Given the description of an element on the screen output the (x, y) to click on. 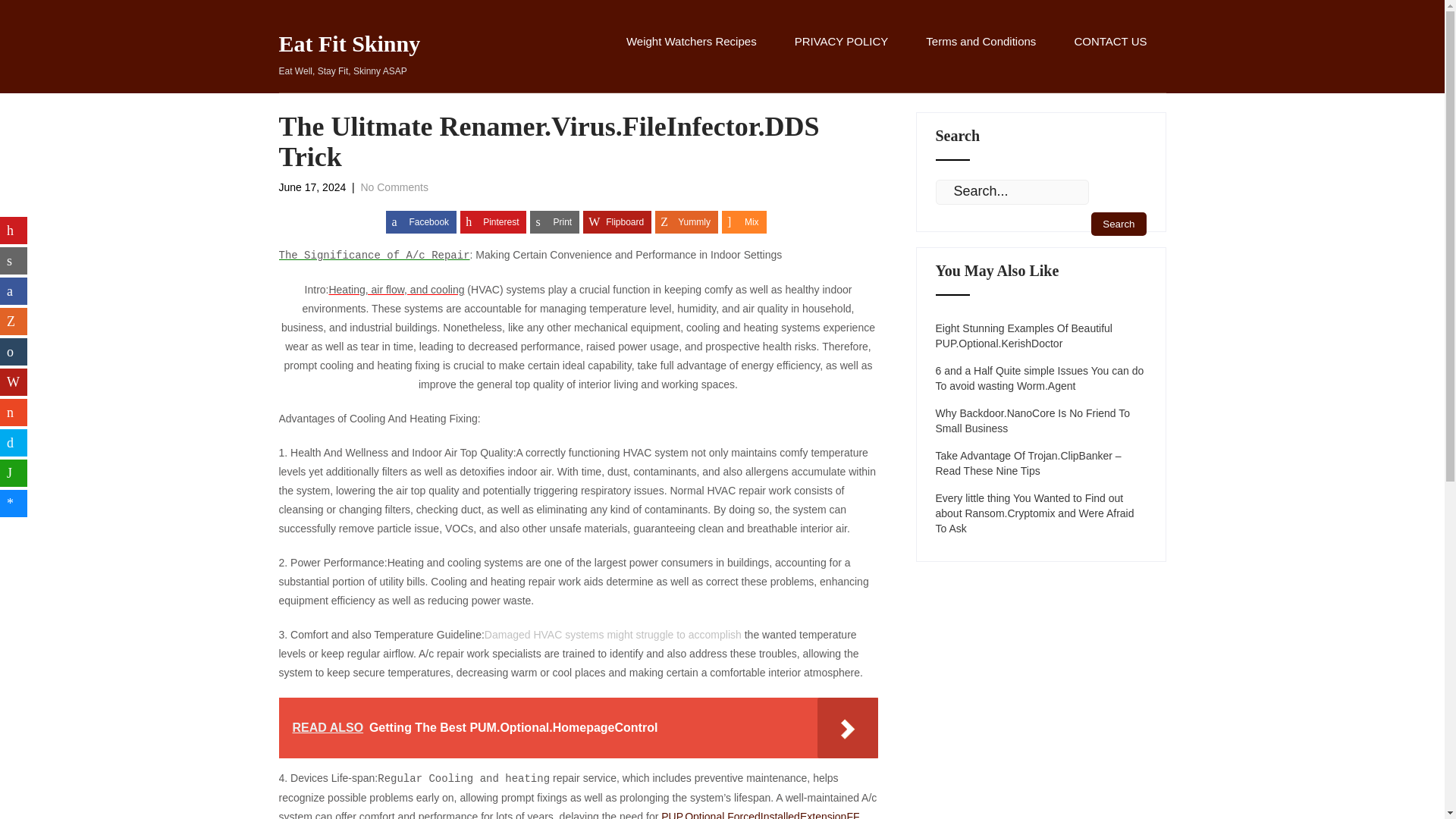
Search (1117, 223)
Weight Watchers Recipes (349, 56)
READ ALSO  Getting The Best PUM.Optional.HomepageControl (691, 57)
Why Backdoor.NanoCore Is No Friend To Small Business (578, 727)
Flipboard (1041, 420)
Search (616, 221)
No Comments (1117, 223)
Facebook (393, 186)
Mix (421, 221)
Pinterest (744, 221)
PUP.Optional.ForcedInstalledExtensionFF (492, 221)
Search (760, 814)
